Given the description of an element on the screen output the (x, y) to click on. 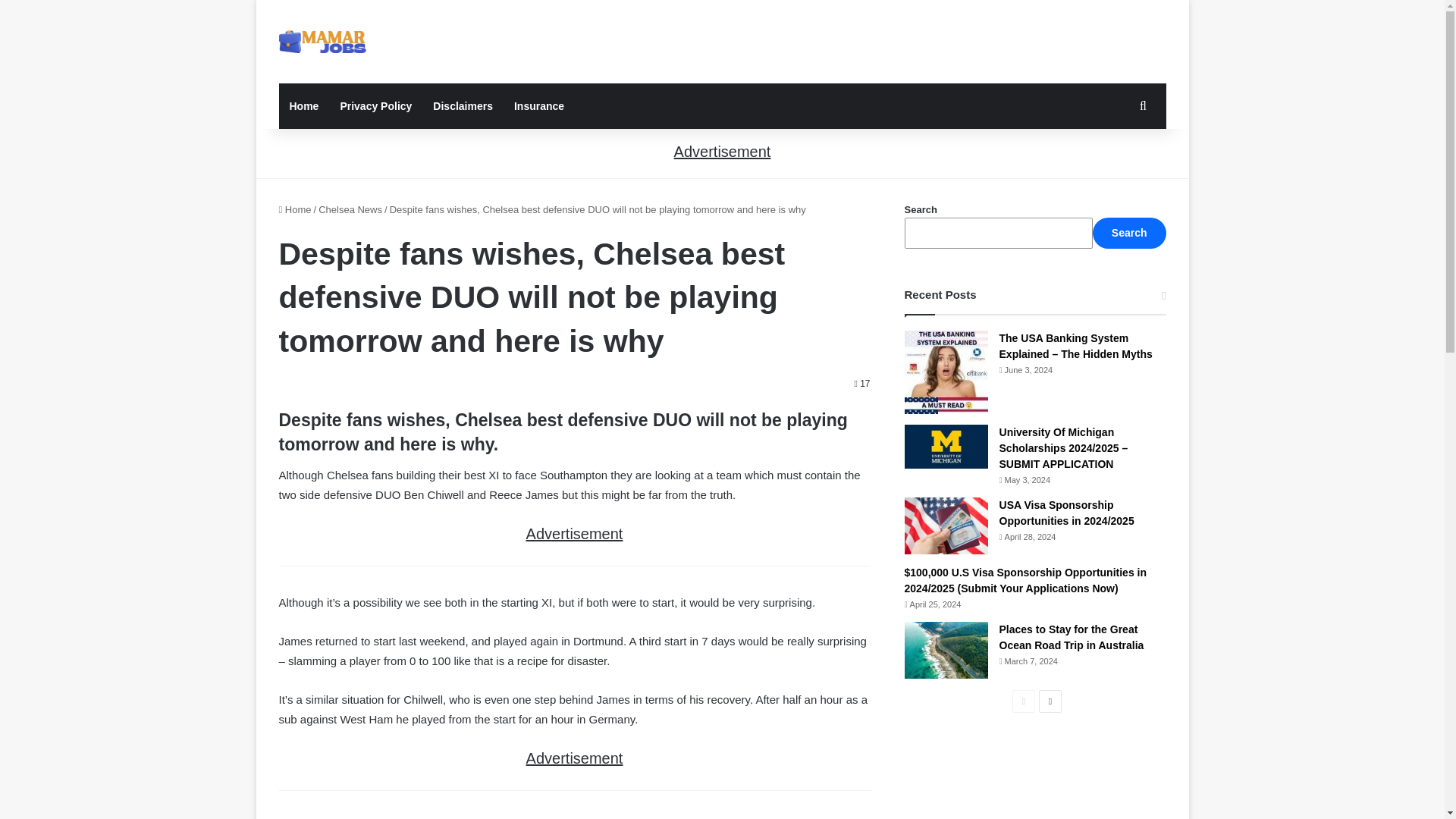
Home (295, 209)
Mamar Today (322, 41)
Previous page (1023, 701)
Next page (1050, 701)
Search for (1142, 105)
Disclaimers (462, 105)
Chelsea News (349, 209)
Home (304, 105)
Insurance (539, 105)
Search (1129, 232)
Places to Stay for the Great Ocean Road Trip in Australia (1071, 637)
Privacy Policy (375, 105)
